Given the description of an element on the screen output the (x, y) to click on. 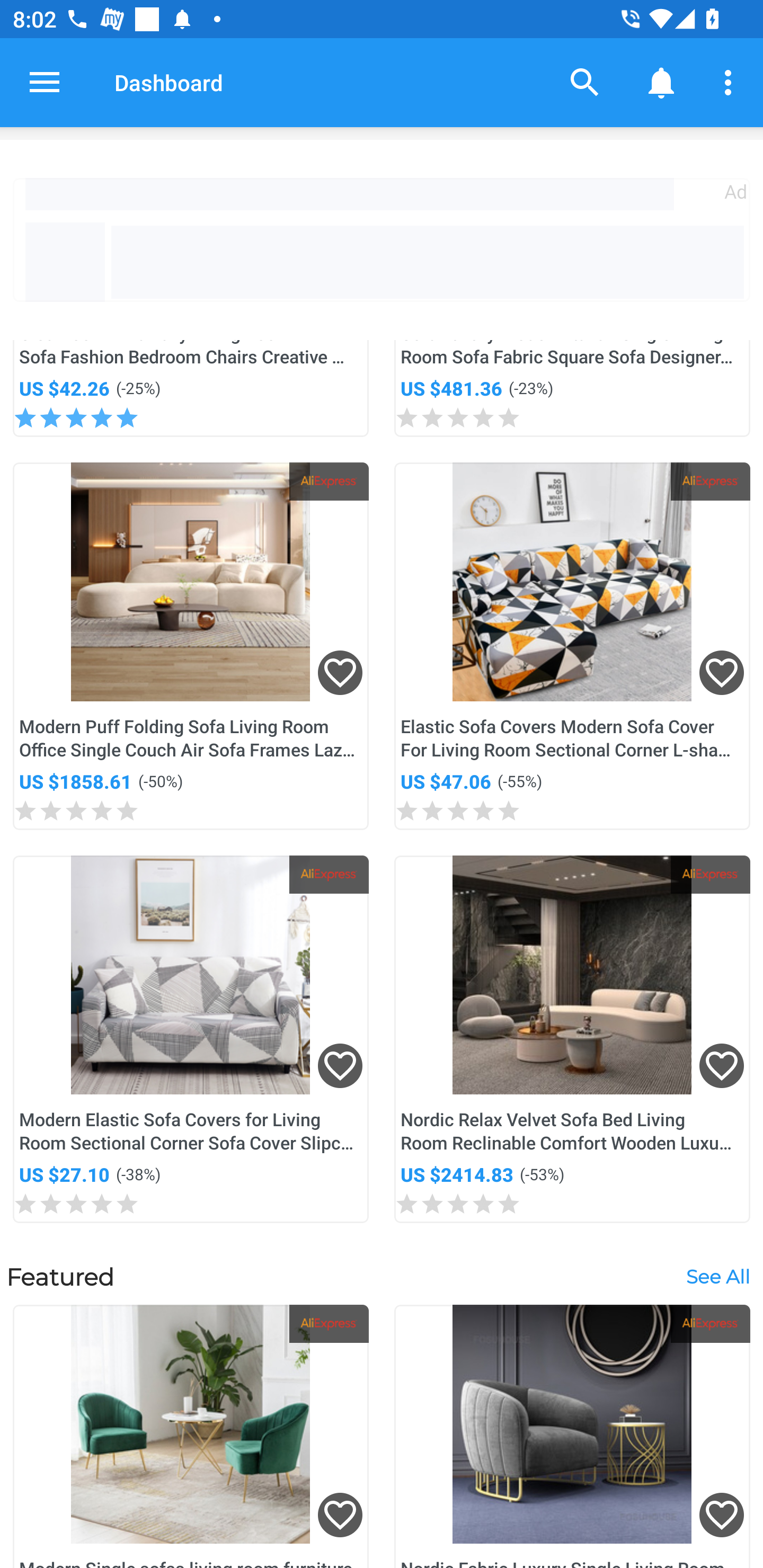
Open navigation drawer (44, 82)
Search (585, 81)
More options (731, 81)
See All (717, 1275)
